Given the description of an element on the screen output the (x, y) to click on. 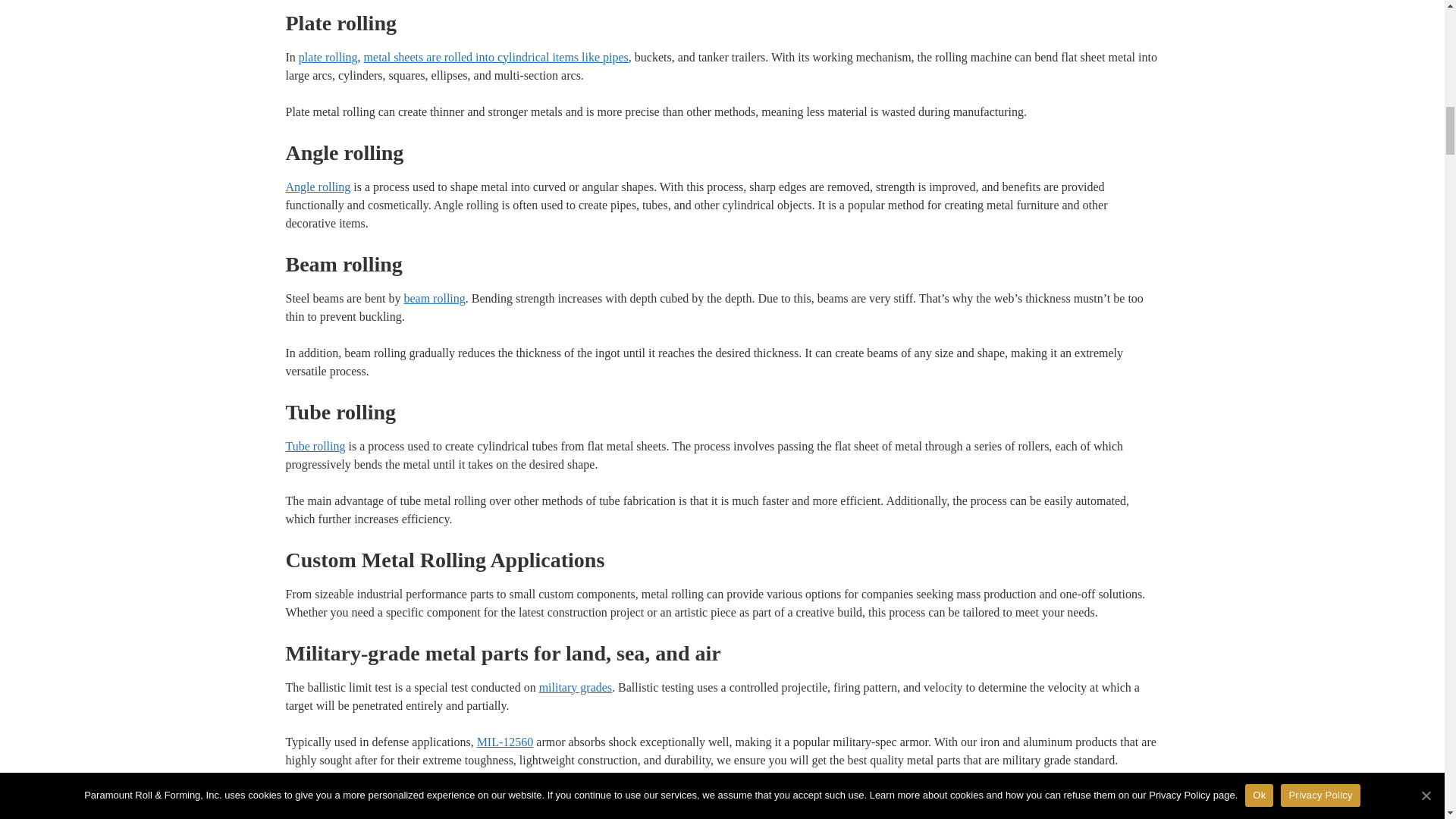
metal sheets are rolled into cylindrical items like pipes (496, 56)
plate rolling (328, 56)
